Given the description of an element on the screen output the (x, y) to click on. 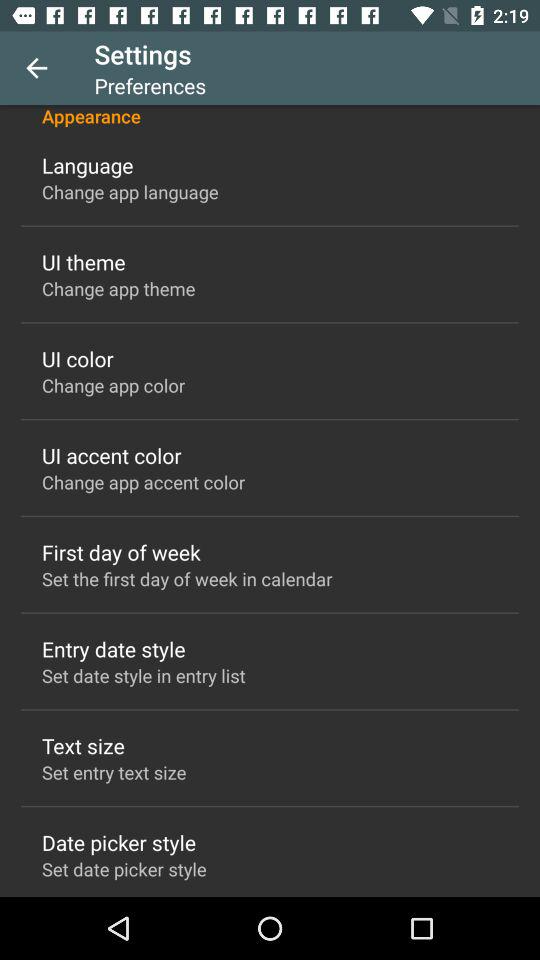
scroll until set the first icon (187, 578)
